Given the description of an element on the screen output the (x, y) to click on. 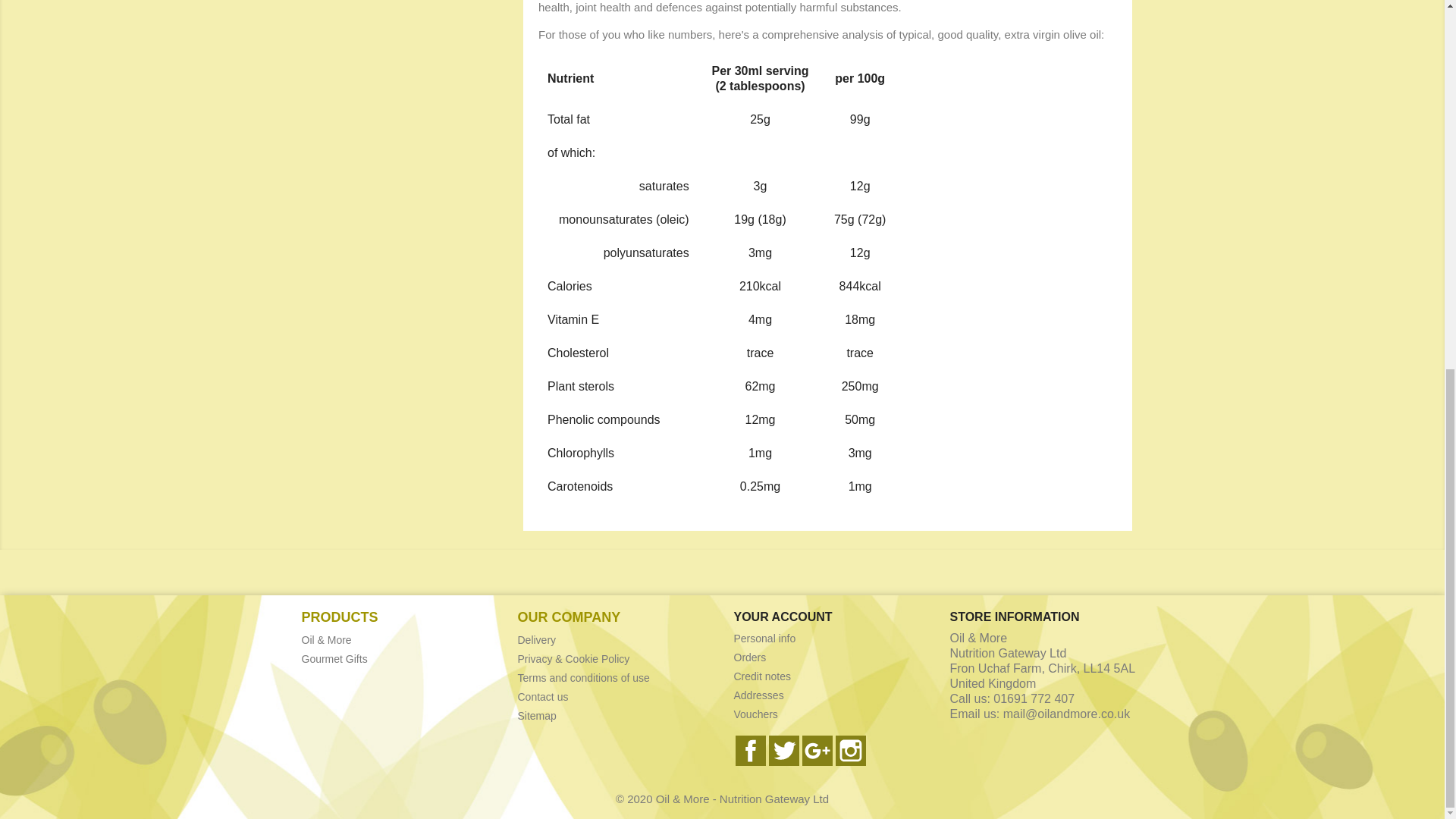
Addresses (758, 695)
Our terms and conditions of delivery (536, 639)
Vouchers (755, 714)
Lost ? Find what your are looking for (536, 715)
Privacy and cookie policy (572, 658)
Orders (750, 657)
Use our form to contact us (541, 696)
Credit notes (761, 676)
Personal info (764, 638)
Our terms and conditions of use (582, 677)
